Given the description of an element on the screen output the (x, y) to click on. 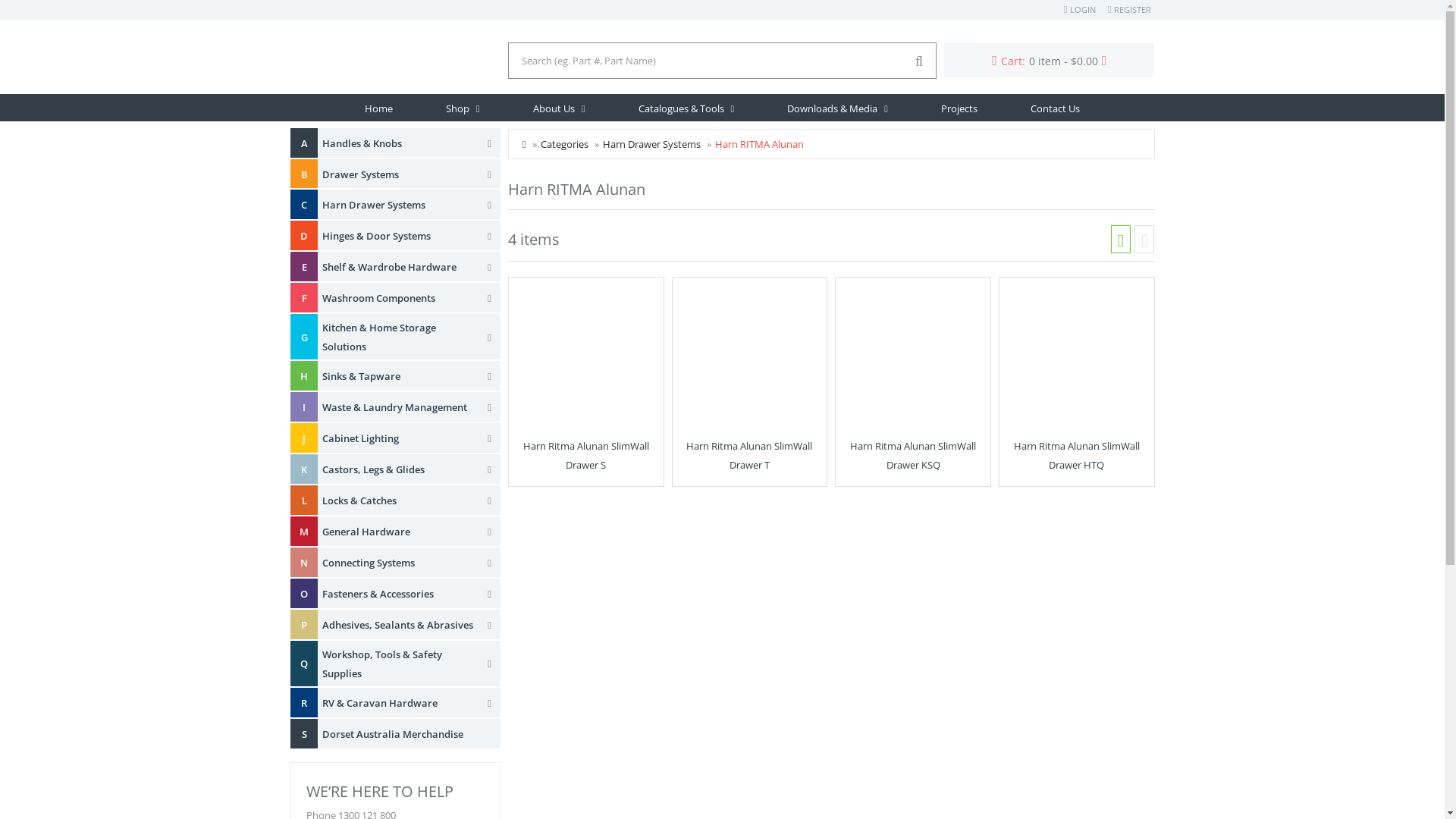
General Hardware Element type: text (398, 531)
Waste & Laundry Management Element type: text (398, 407)
Harn Ritma Alunan SlimWall Drawer S Element type: text (586, 455)
Adhesives, Sealants & Abrasives Element type: text (398, 624)
Cart: 0 item - $0.00 Element type: text (1049, 59)
N Element type: text (302, 562)
Sinks & Tapware Element type: text (398, 376)
Harn Ritma Alunan SlimWall Drawer HTQ Element type: text (1076, 455)
Q Element type: text (302, 662)
Dorset Australia Merchandise Element type: text (398, 733)
O Element type: text (302, 593)
Handles & Knobs Element type: text (398, 143)
Downloads & Media    Element type: text (837, 107)
REGISTER Element type: text (1129, 9)
M Element type: text (302, 531)
A Element type: text (302, 142)
R Element type: text (302, 702)
B Element type: text (302, 173)
P Element type: text (302, 624)
Catalogues & Tools    Element type: text (685, 107)
C Element type: text (302, 204)
E Element type: text (302, 266)
H Element type: text (302, 375)
Categories Element type: text (564, 143)
Kitchen & Home Storage Solutions Element type: text (398, 337)
I Element type: text (302, 406)
About Us    Element type: text (558, 107)
Locks & Catches Element type: text (398, 500)
K Element type: text (302, 468)
Projects Element type: text (959, 107)
F Element type: text (302, 297)
Connecting Systems Element type: text (398, 562)
Hinges & Door Systems Element type: text (398, 235)
Cabinet Lighting Element type: text (398, 438)
J Element type: text (302, 437)
Shop    Element type: text (462, 107)
Harn Drawer Systems Element type: text (651, 143)
Harn Ritma Alunan SlimWall Drawer T Element type: text (749, 455)
G Element type: text (302, 336)
Workshop, Tools & Safety Supplies Element type: text (398, 664)
Shelf & Wardrobe Hardware Element type: text (398, 266)
L Element type: text (302, 499)
S Element type: text (302, 733)
Fasteners & Accessories Element type: text (398, 593)
LOGIN Element type: text (1079, 9)
Harn Drawer Systems Element type: text (398, 204)
RV & Caravan Hardware Element type: text (398, 702)
Washroom Components Element type: text (398, 297)
Contact Us Element type: text (1055, 107)
Harn Ritma Alunan SlimWall Drawer KSQ Element type: text (912, 455)
D Element type: text (302, 235)
Drawer Systems Element type: text (398, 174)
Home Element type: text (378, 107)
Castors, Legs & Glides Element type: text (398, 469)
